Given the description of an element on the screen output the (x, y) to click on. 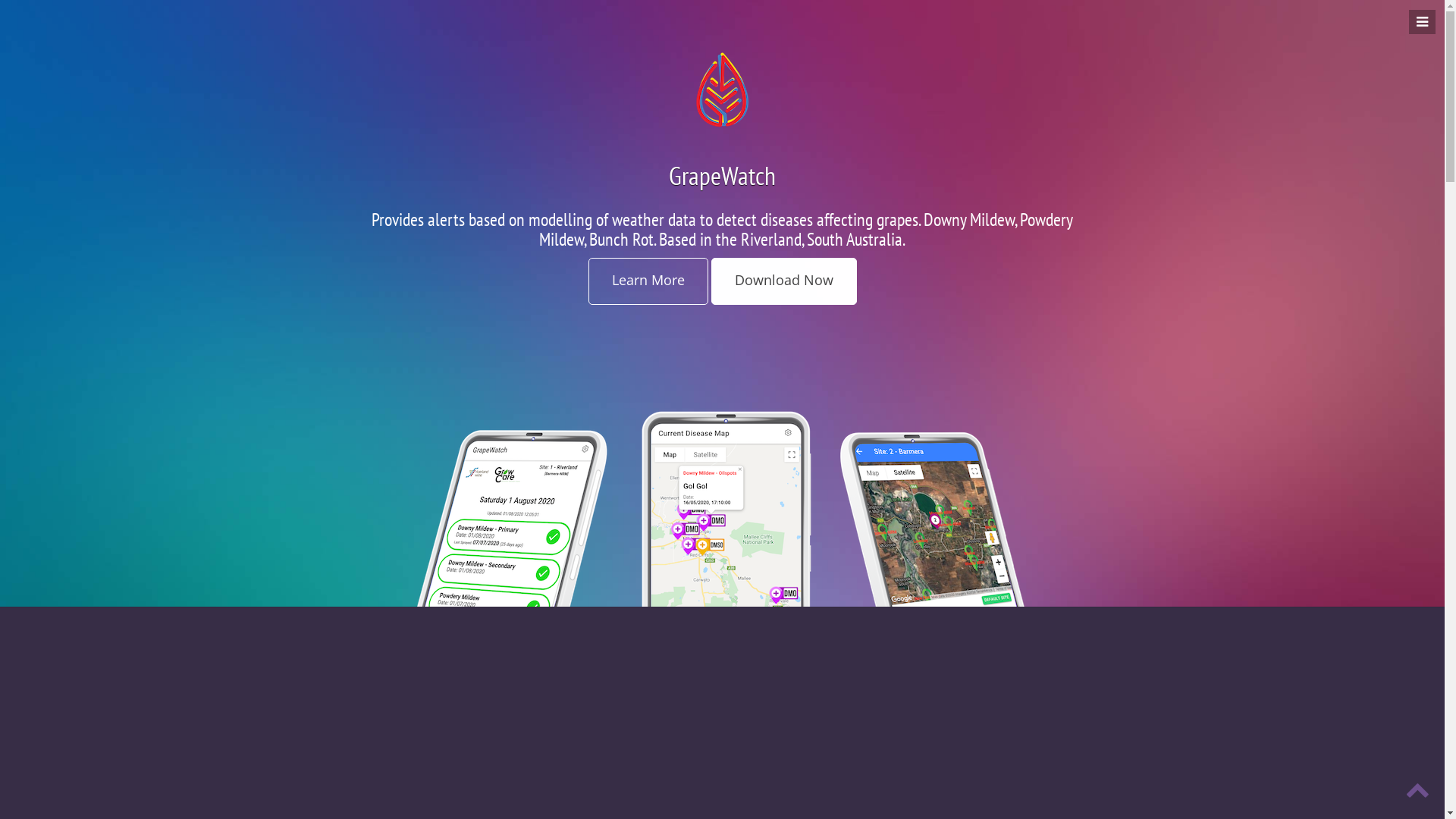
Learn More Element type: text (648, 280)
Download Now Element type: text (783, 280)
